Given the description of an element on the screen output the (x, y) to click on. 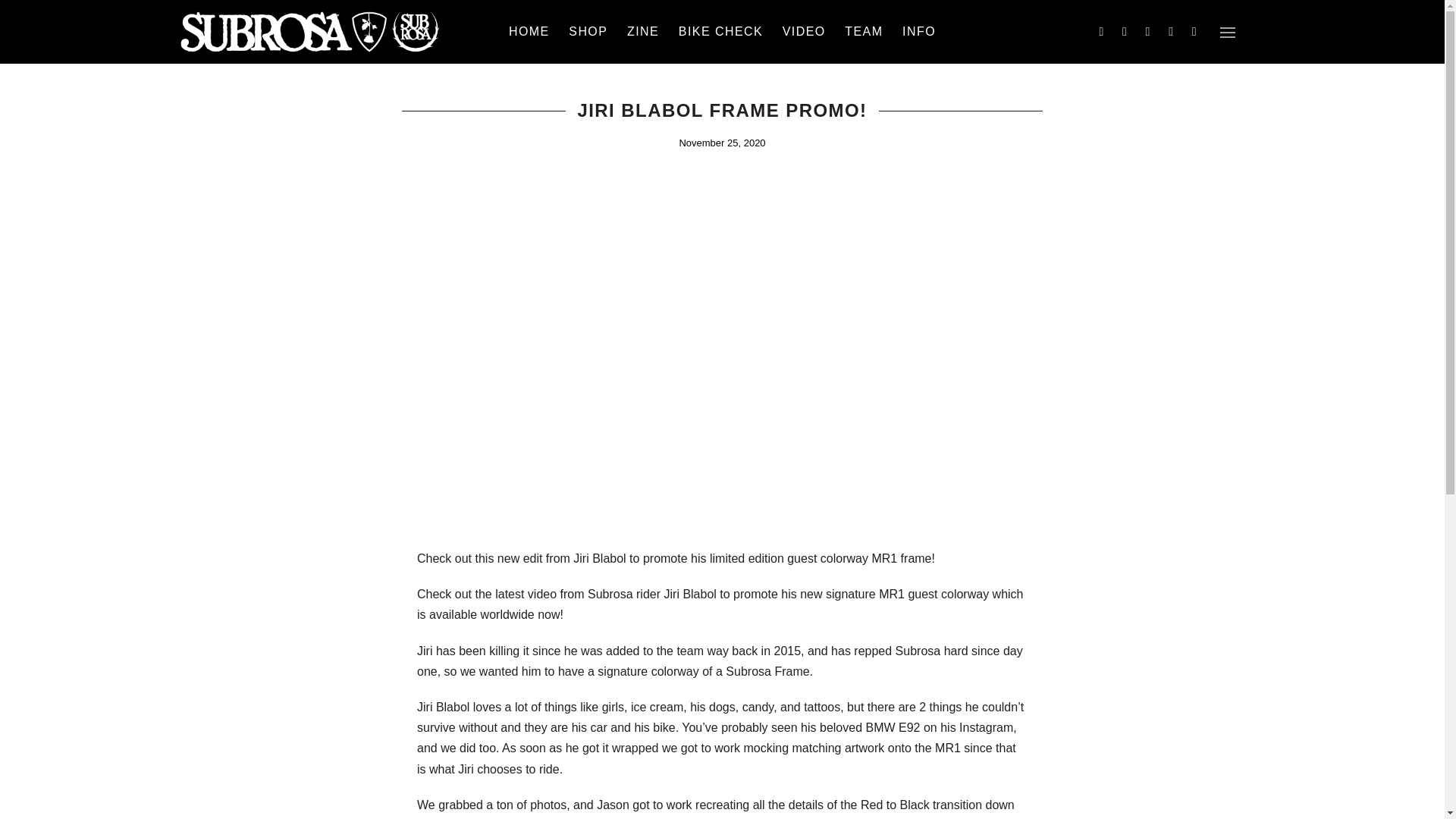
TEAM (863, 31)
3:31 PM (721, 143)
SHOP (588, 31)
HOME (529, 31)
ZINE (643, 31)
VIDEO (804, 31)
3:31 PM (721, 142)
INFO (919, 31)
BIKE CHECK (720, 31)
